Given the description of an element on the screen output the (x, y) to click on. 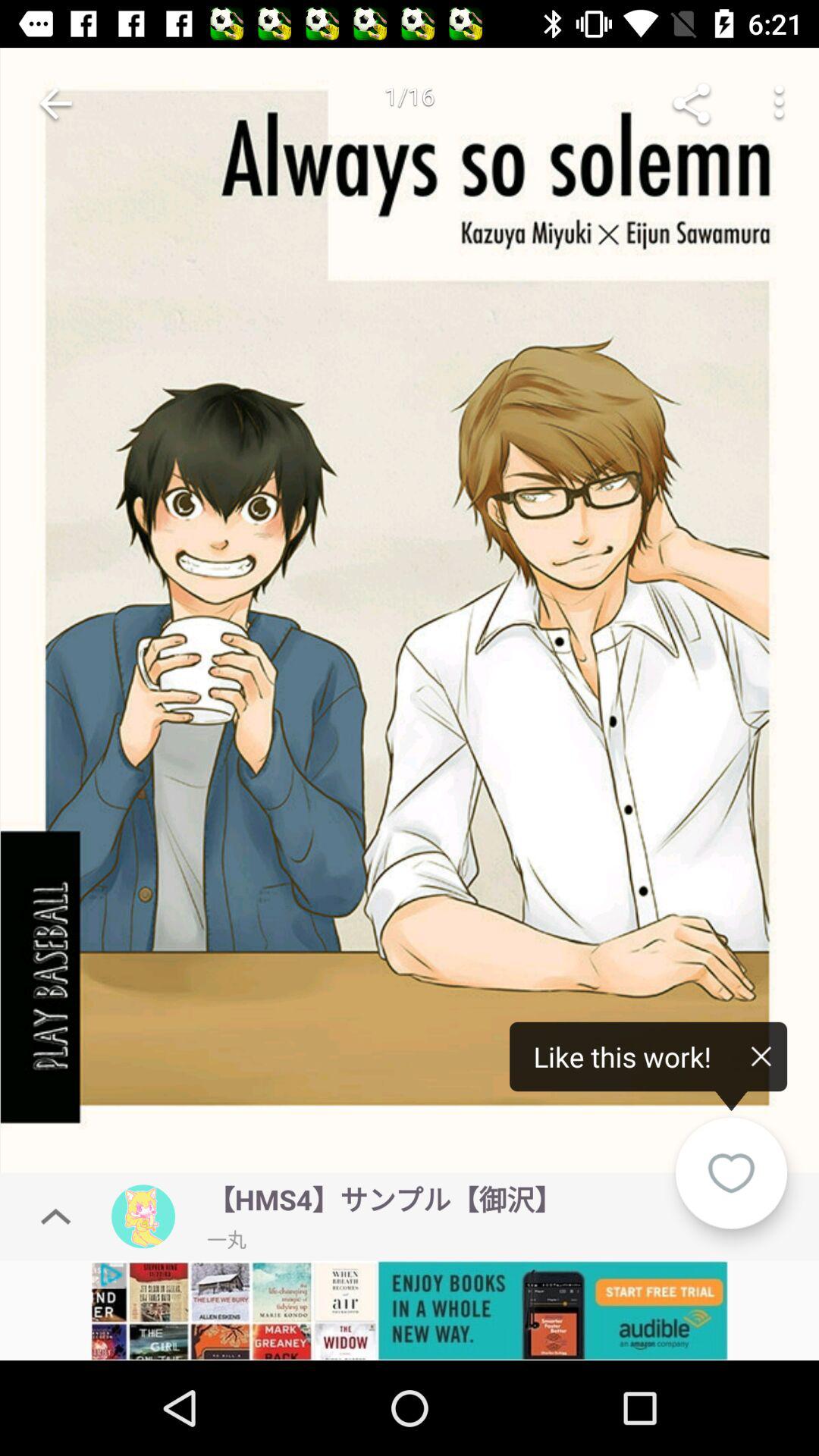
like it (731, 1173)
